Given the description of an element on the screen output the (x, y) to click on. 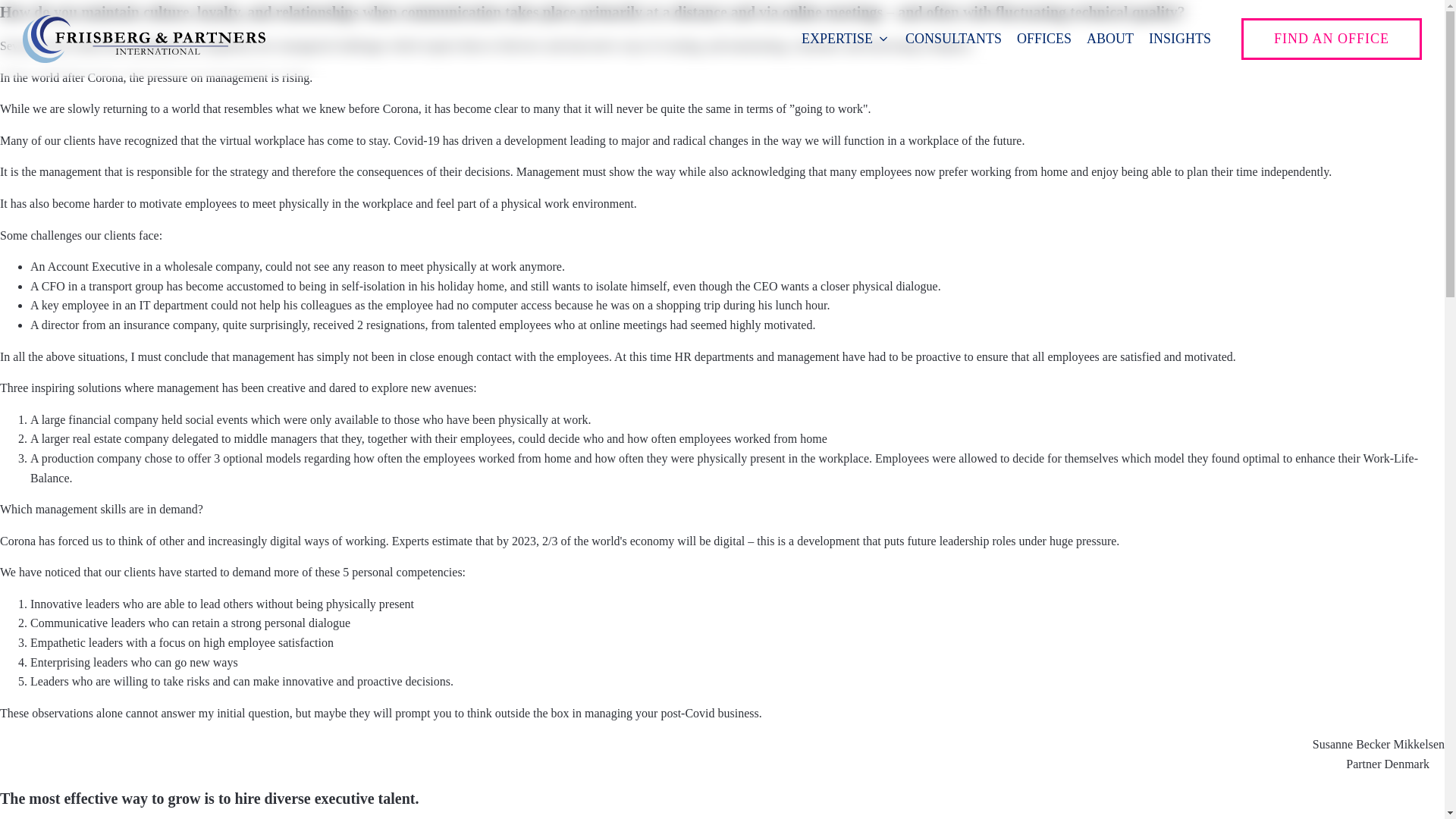
OFFICES (1043, 38)
ABOUT (1110, 38)
CONSULTANTS (953, 38)
INSIGHTS (1179, 38)
FIND AN OFFICE (1331, 38)
EXPERTISE (845, 38)
